Given the description of an element on the screen output the (x, y) to click on. 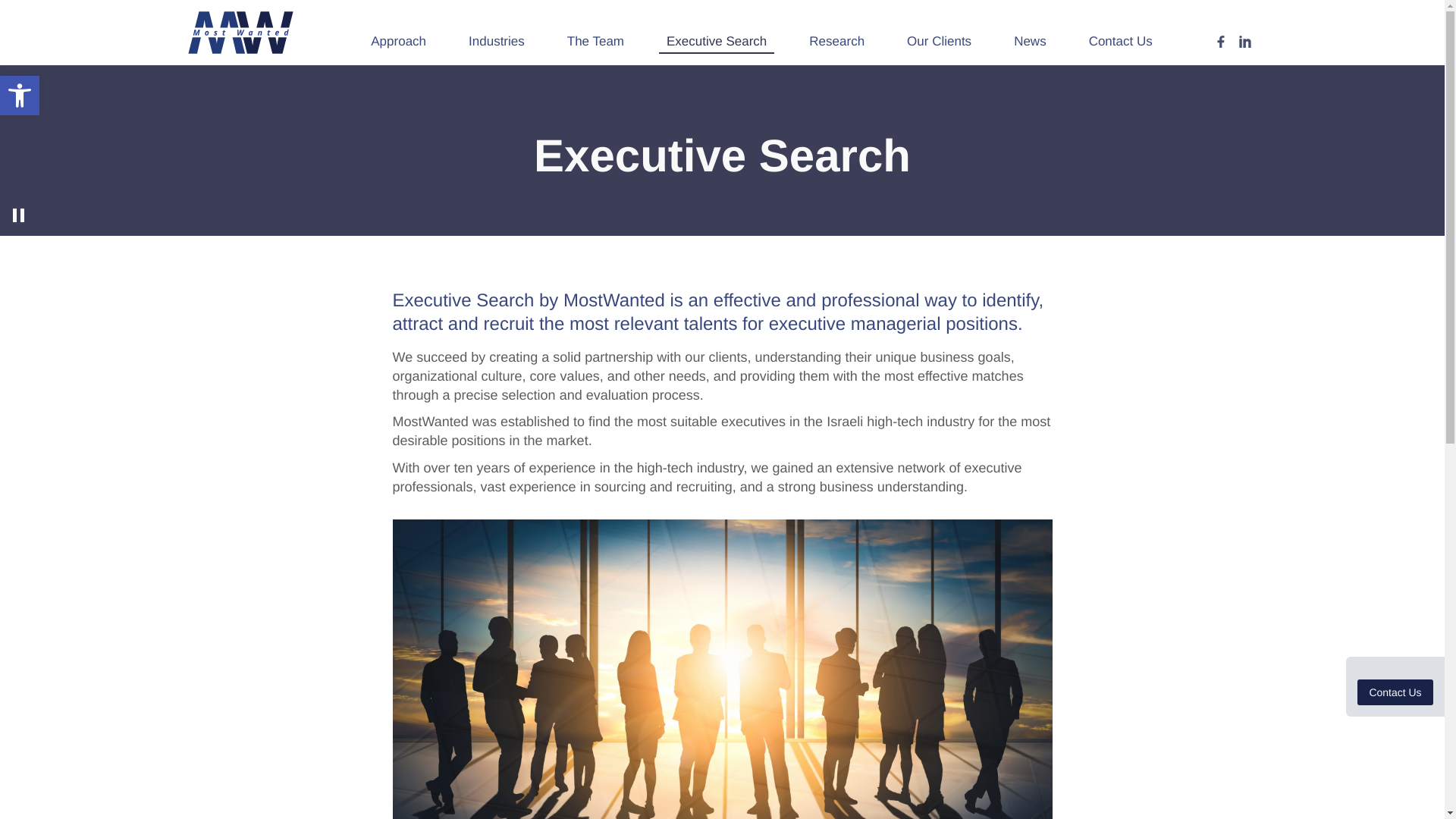
MostWanted on Facebook (1220, 41)
Research (837, 41)
The Team (595, 41)
Our Clients (938, 41)
Contact Us (1120, 41)
Contact Us (1394, 692)
Accessibility Tools (19, 95)
Industries (496, 41)
Approach (397, 41)
Executive Search (716, 41)
Accessibility Tools (19, 95)
MostWanted on LinkedIn (1244, 41)
News (19, 95)
